Given the description of an element on the screen output the (x, y) to click on. 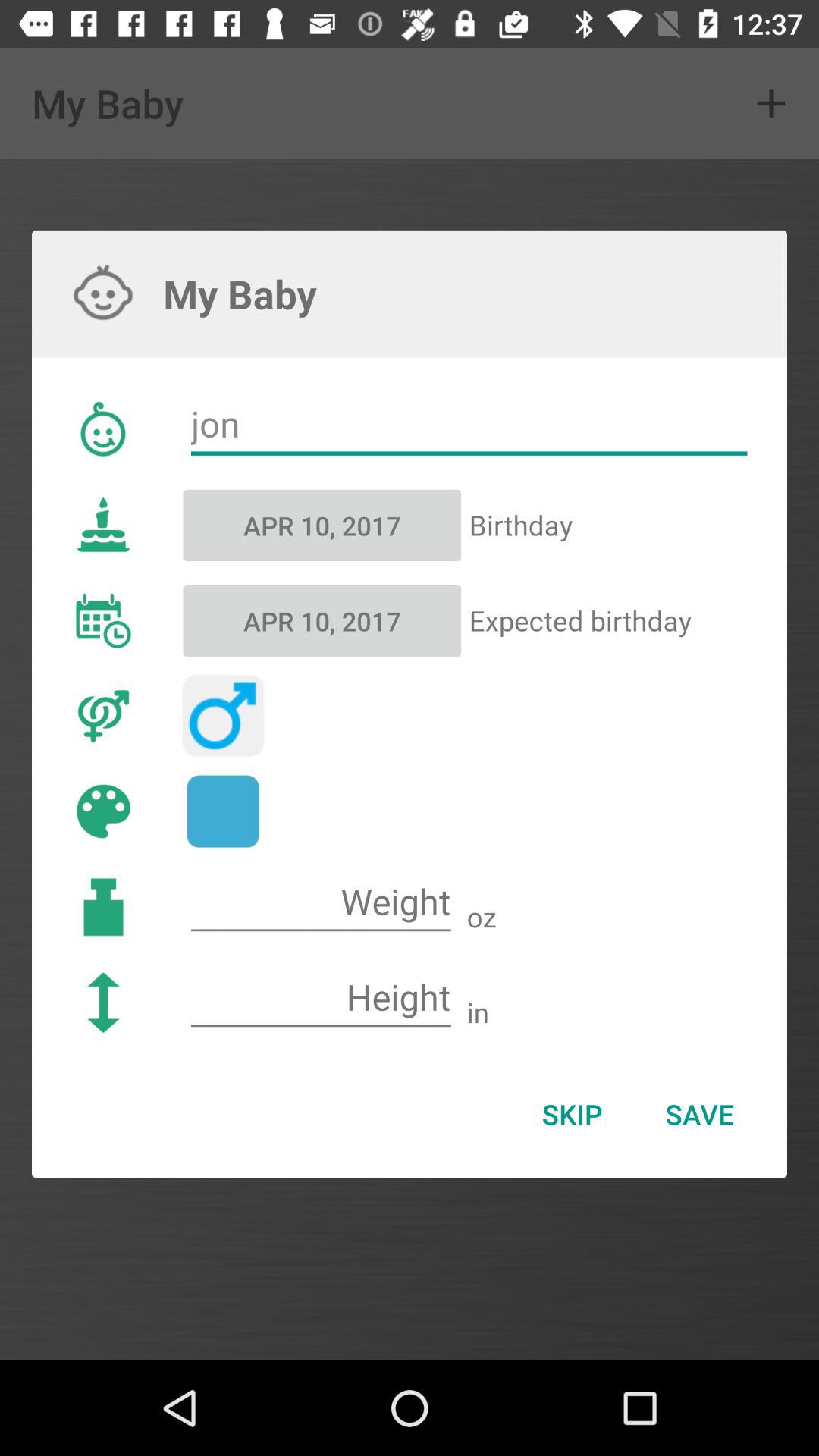
enter weight (320, 902)
